Given the description of an element on the screen output the (x, y) to click on. 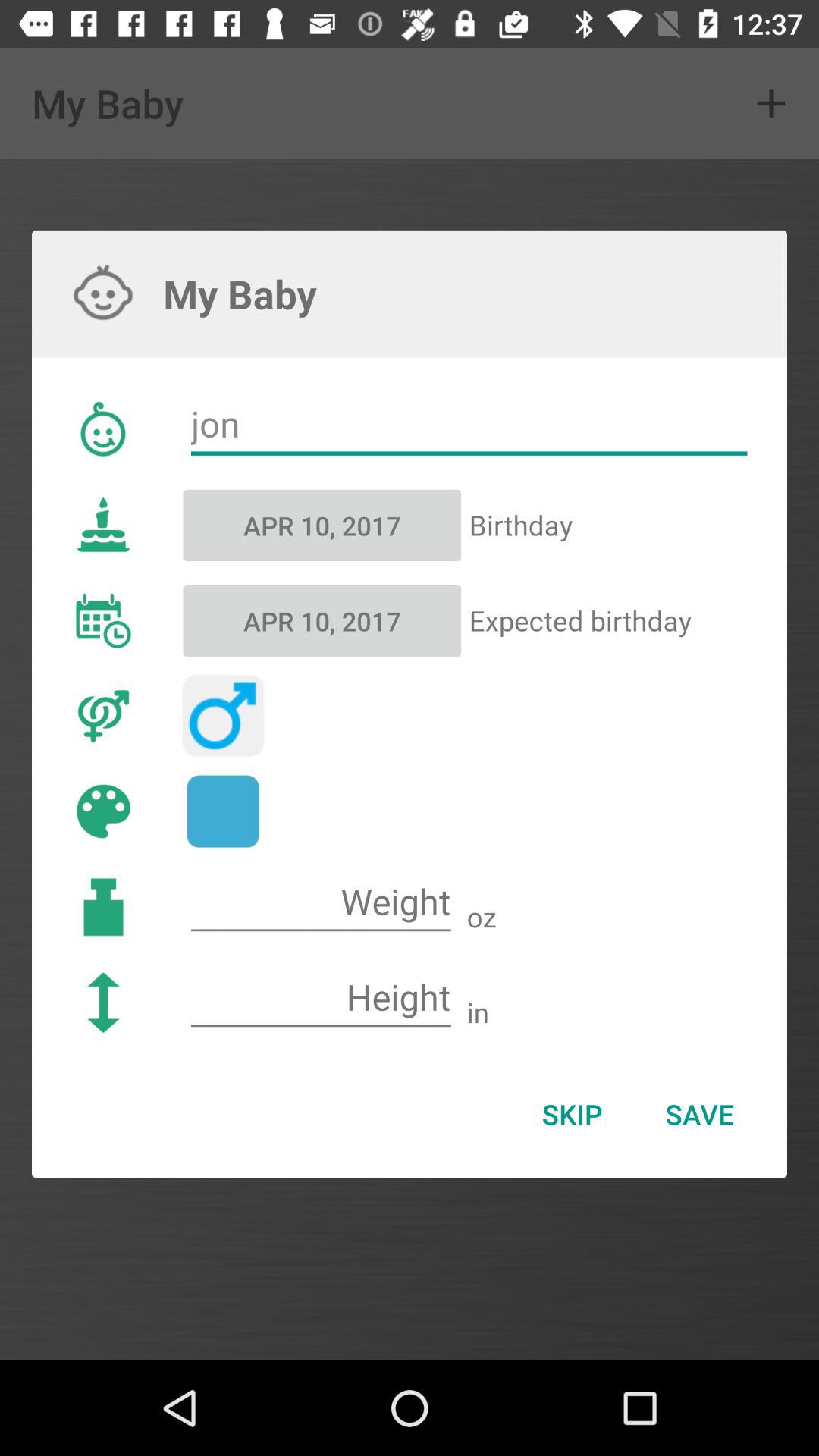
enter weight (320, 902)
